Given the description of an element on the screen output the (x, y) to click on. 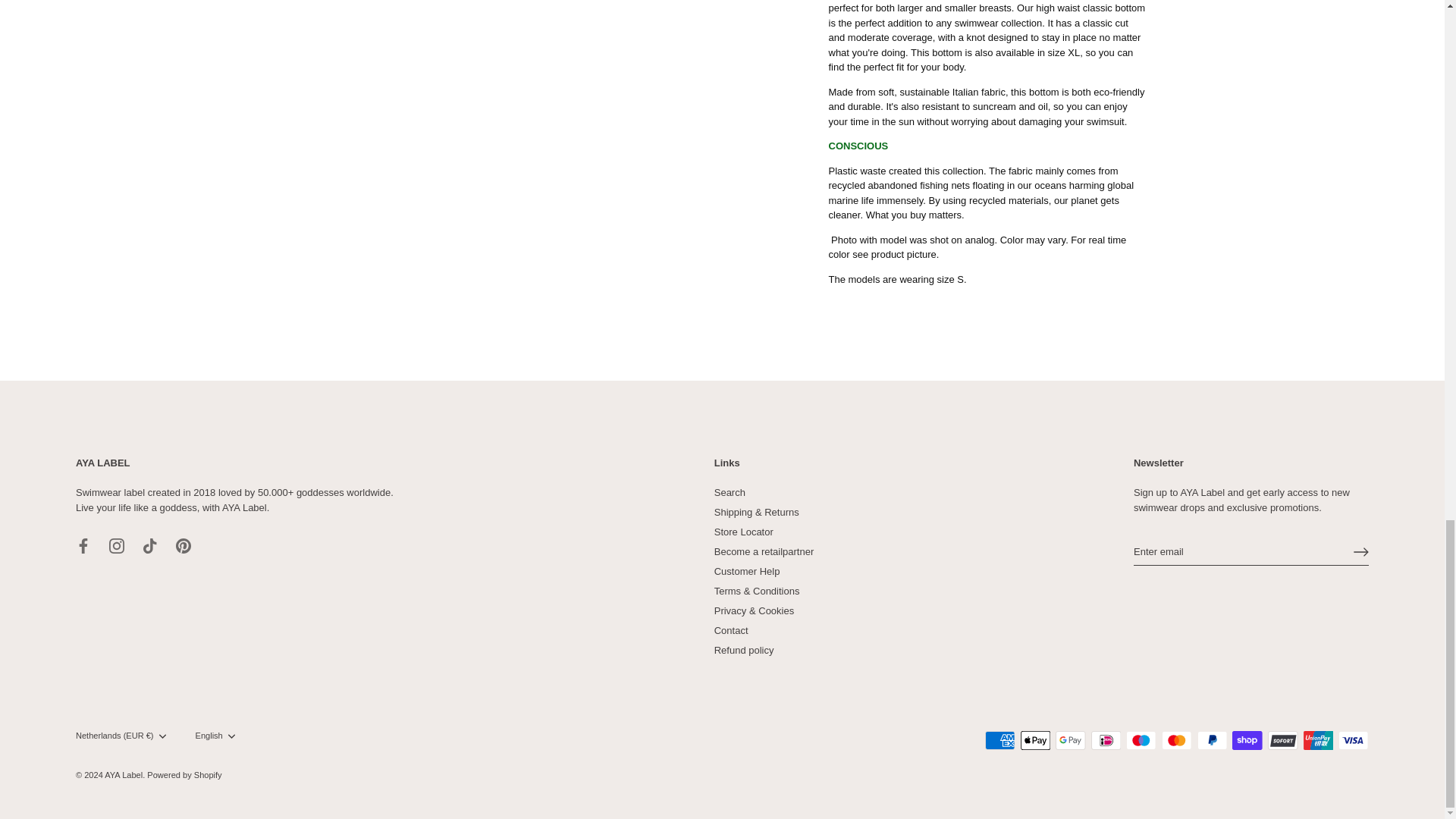
Shop Pay (1246, 740)
Apple Pay (1035, 740)
PayPal (1211, 740)
Pinterest (183, 545)
Google Pay (1070, 740)
SOFORT (1282, 740)
Instagram (116, 545)
RIGHT ARROW LONG (1361, 551)
iDEAL (1105, 740)
Maestro (1140, 740)
Mastercard (1176, 740)
Union Pay (1318, 740)
American Express (999, 740)
